Given the description of an element on the screen output the (x, y) to click on. 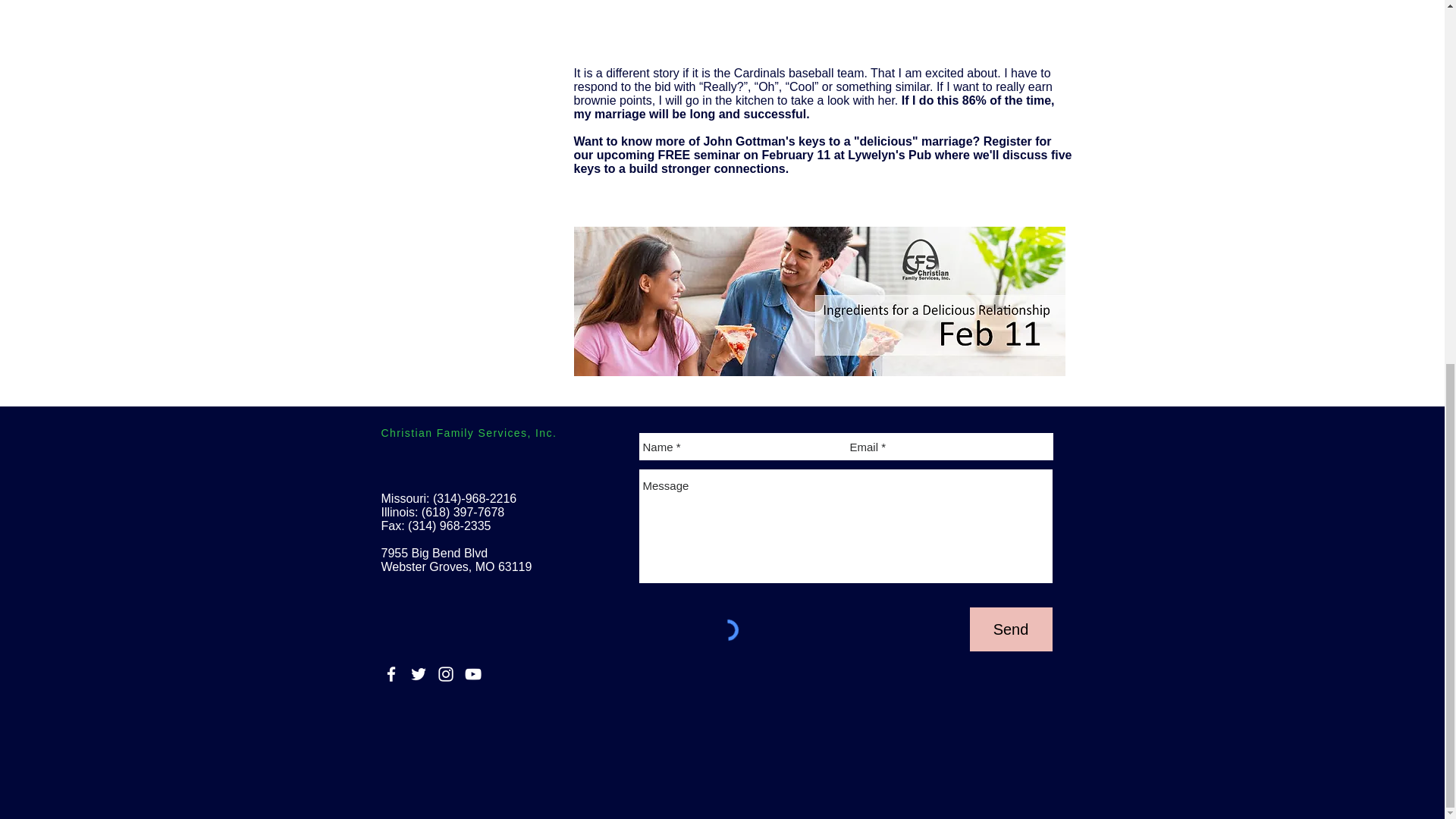
Send (1010, 629)
